Given the description of an element on the screen output the (x, y) to click on. 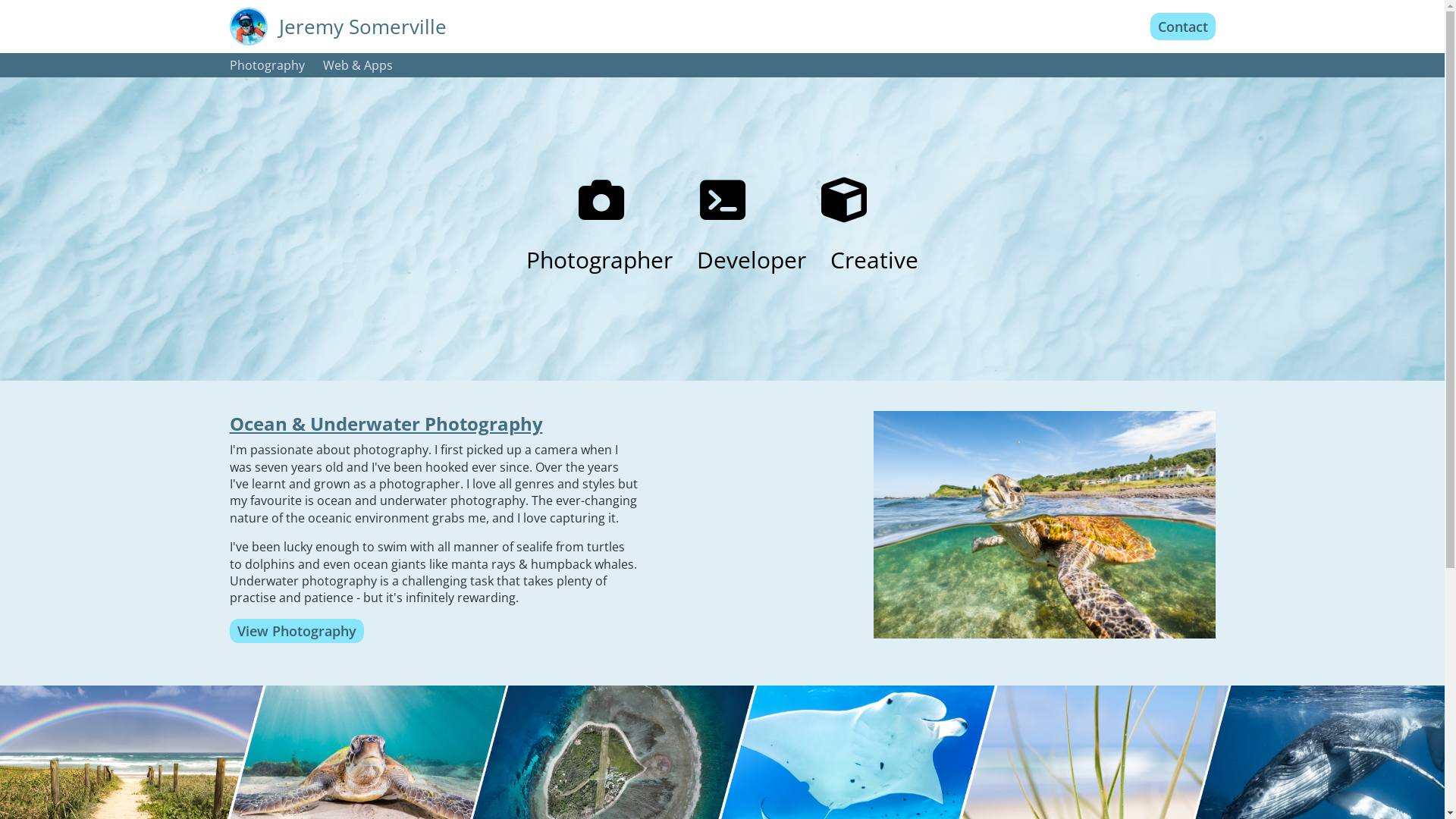
Web & Apps Element type: text (357, 64)
Contact Element type: text (1181, 26)
Ocean & Underwater Photography Element type: text (433, 426)
View Photography Element type: text (296, 630)
Jeremy Somerville Element type: text (362, 26)
Photography Element type: text (266, 64)
